Given the description of an element on the screen output the (x, y) to click on. 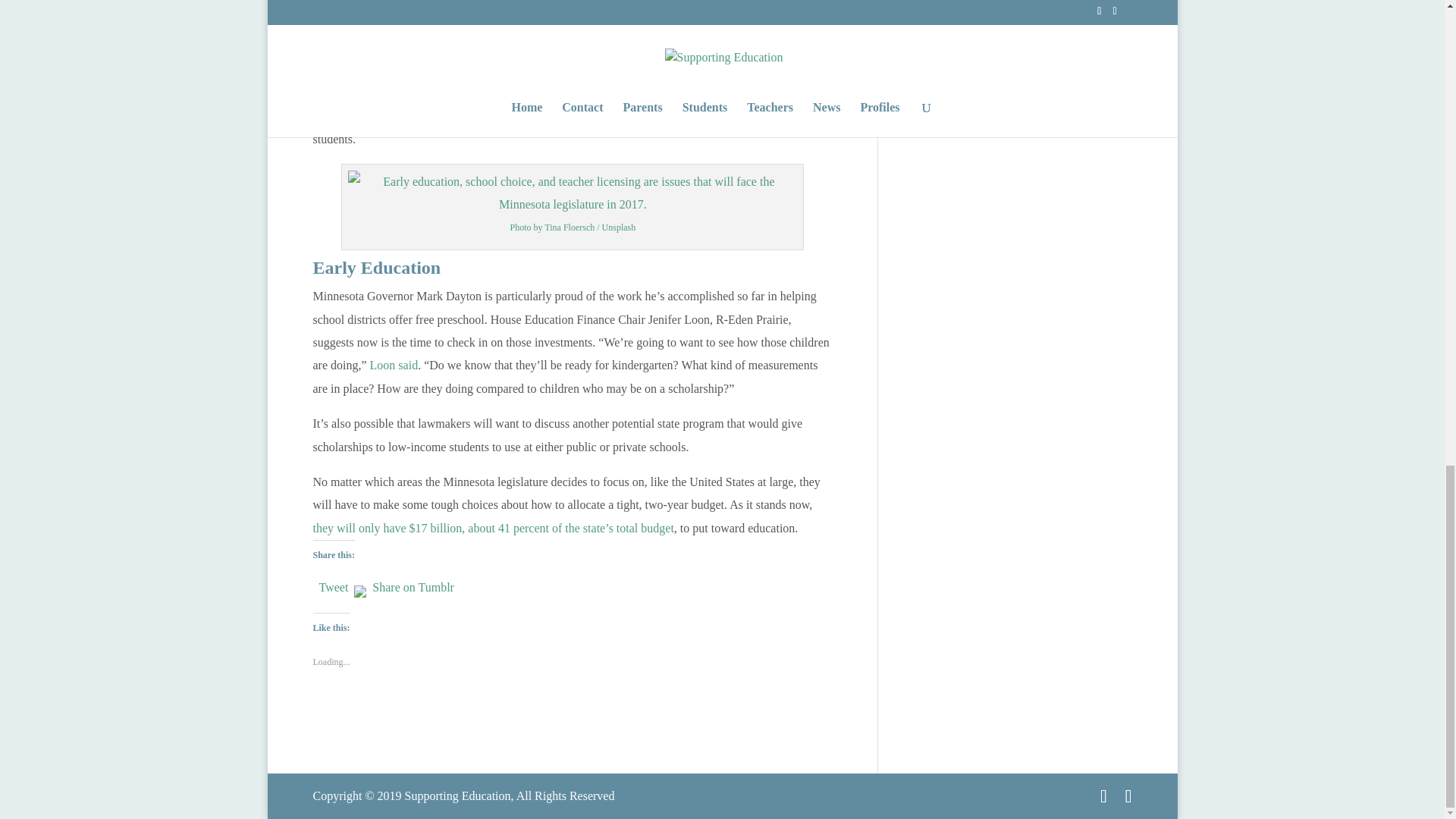
Share on Tumblr (413, 584)
Tweet (332, 584)
Share on Tumblr (413, 584)
Loon said (394, 364)
